Given the description of an element on the screen output the (x, y) to click on. 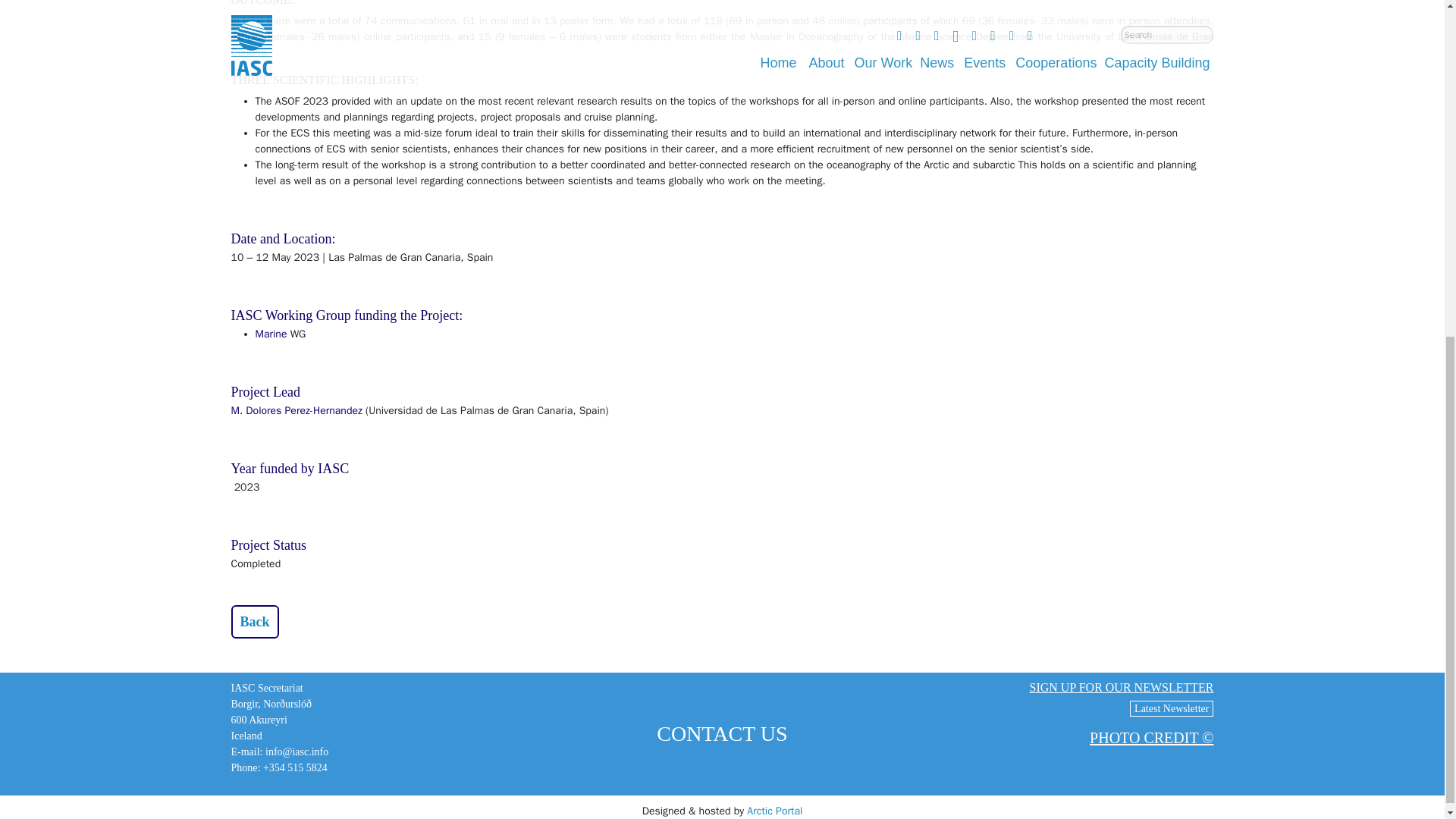
IASC Newsletter (1170, 708)
Arctic Portal (774, 810)
Publications (254, 621)
Photo Credit (1150, 737)
Newsletter sign up (1120, 686)
